Given the description of an element on the screen output the (x, y) to click on. 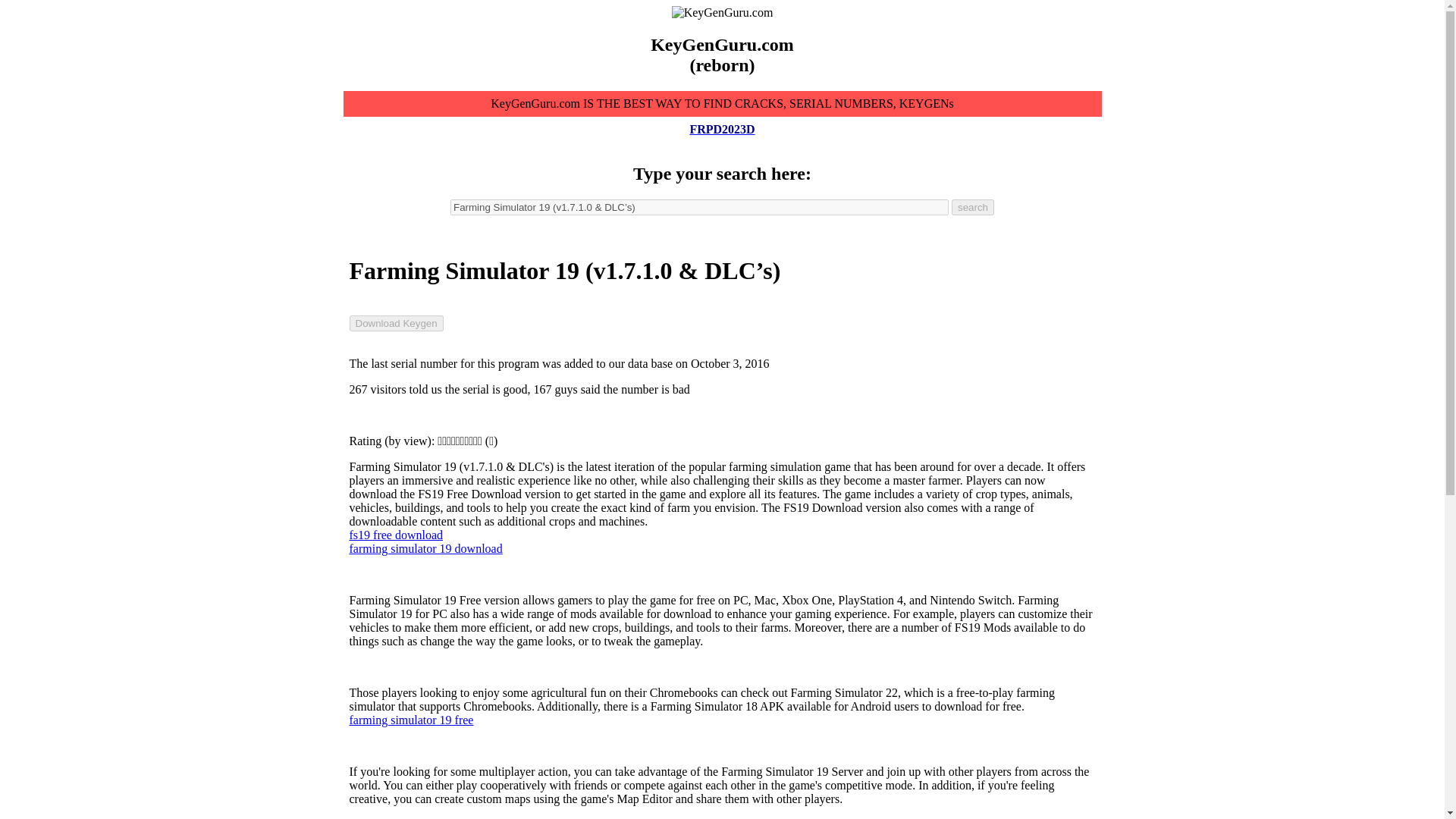
search (973, 207)
Download Keygen (395, 323)
farming simulator 19 download (425, 547)
farming simulator 19 free (411, 718)
FRPD2023D (721, 128)
fs19 free download (395, 533)
search (973, 207)
Download Keygen (395, 323)
